Given the description of an element on the screen output the (x, y) to click on. 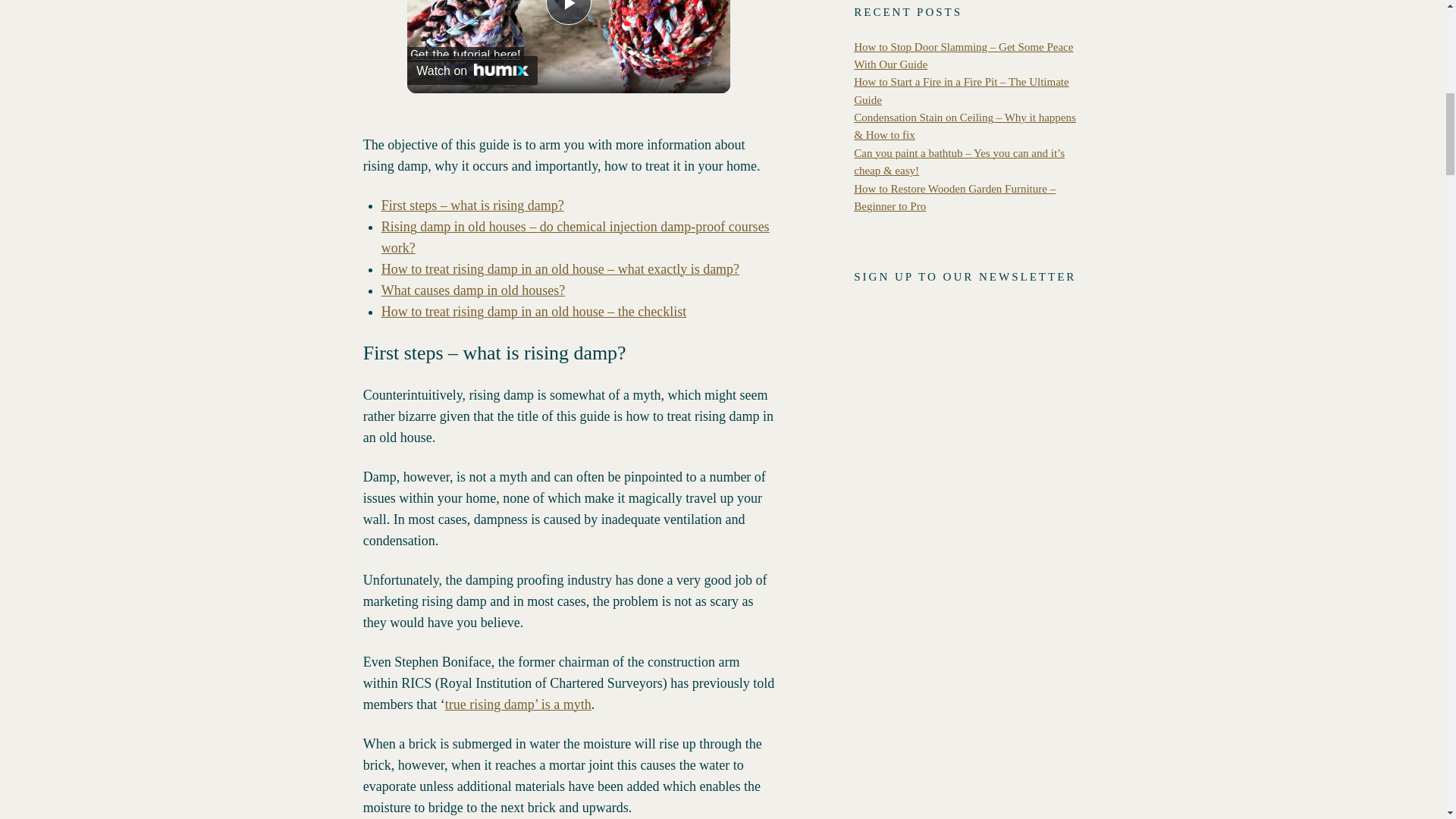
Watch on (472, 70)
What causes damp in old houses? (472, 290)
Get the tutorial here! (465, 54)
Play Video (568, 12)
Play Video (568, 12)
true rising damp' is a myth (518, 703)
